Given the description of an element on the screen output the (x, y) to click on. 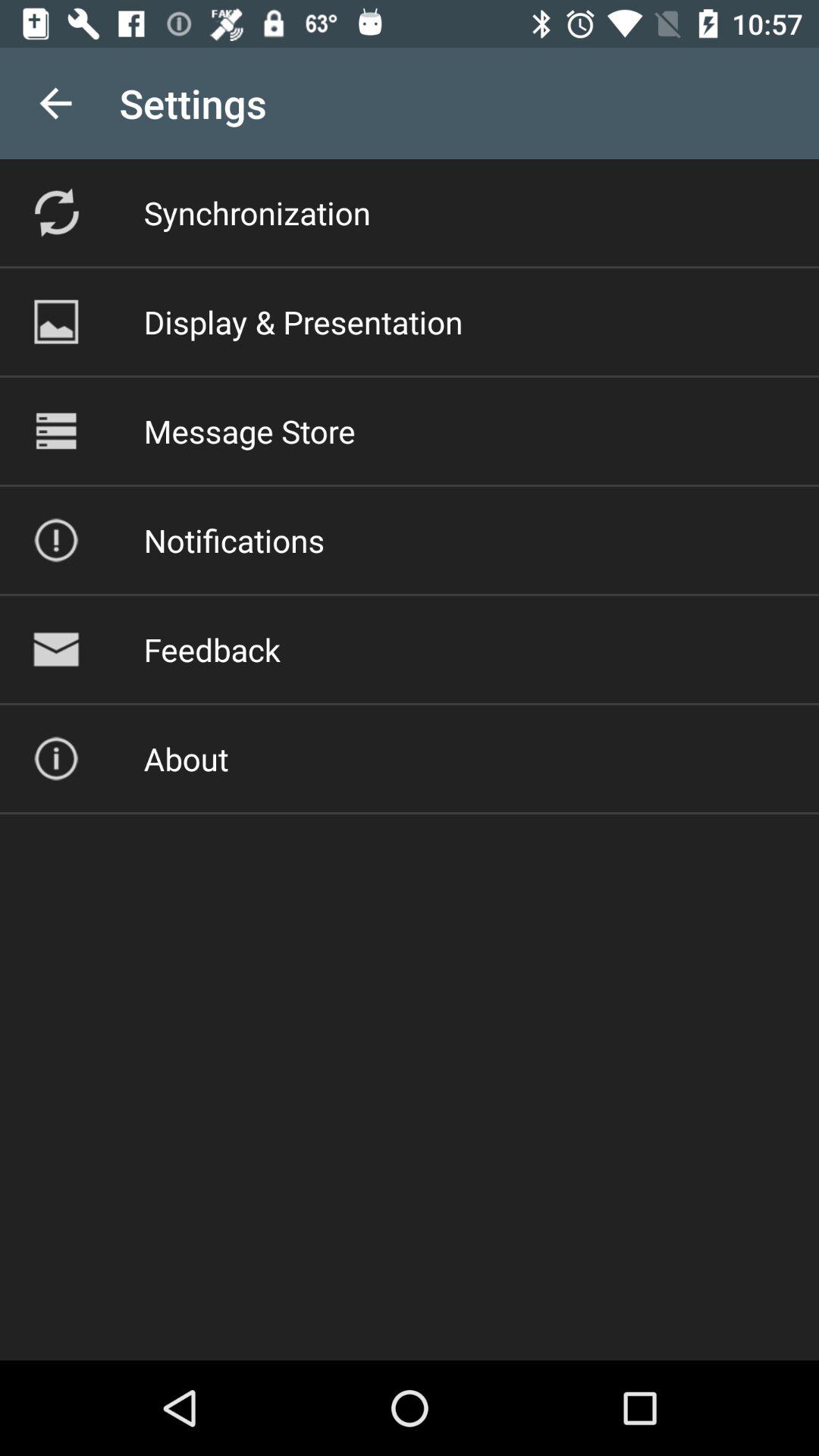
jump until the message store item (249, 430)
